Given the description of an element on the screen output the (x, y) to click on. 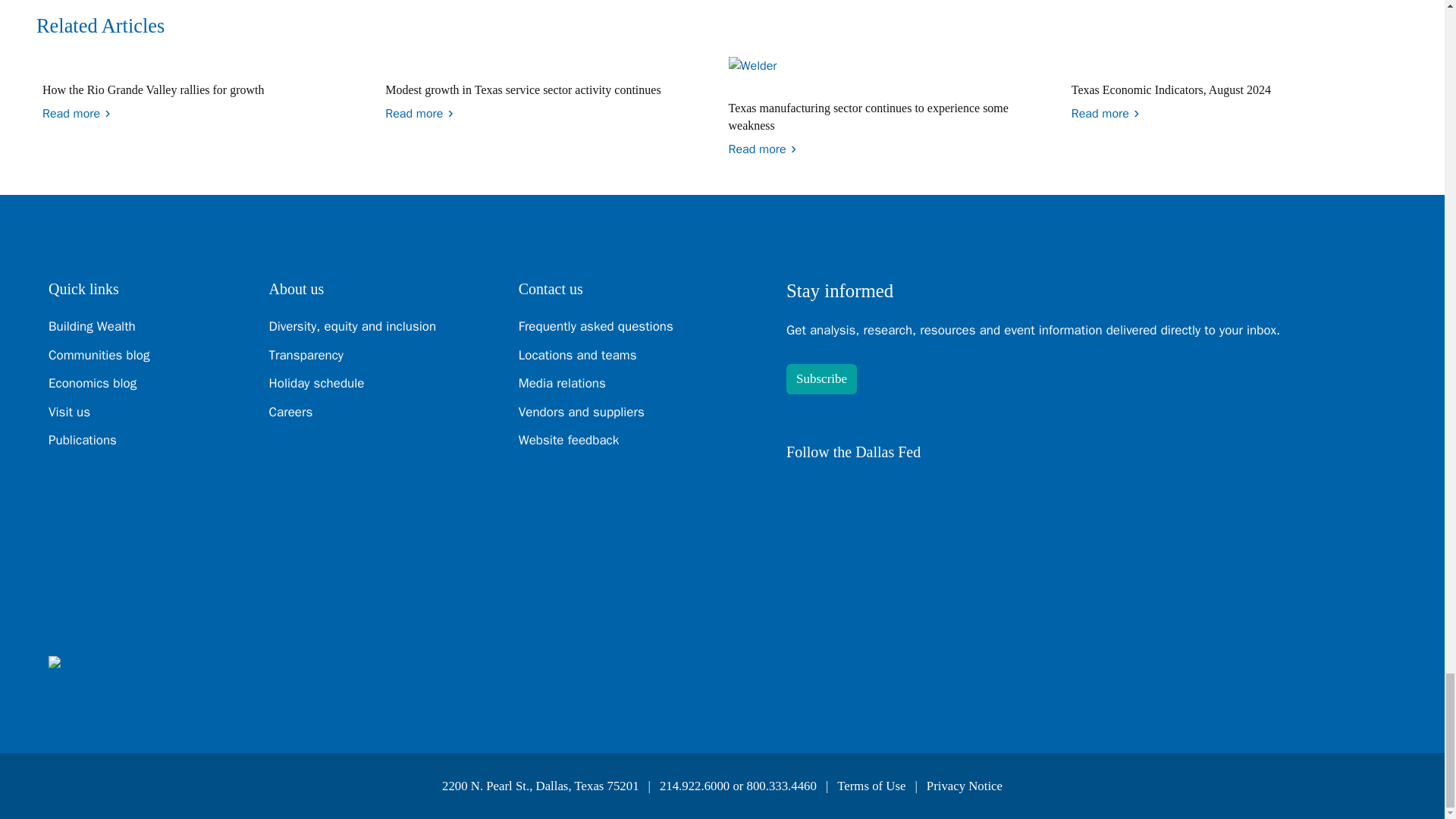
Dallas Fed on Glassdoor (998, 490)
Dallas Fed on Facebook (877, 490)
Dallas Fed on Instagram (916, 490)
Dallas Fed on Twitter (797, 490)
Dallas Fed on YouTube (957, 490)
Dallas Fed on LinkedIn (837, 490)
